Given the description of an element on the screen output the (x, y) to click on. 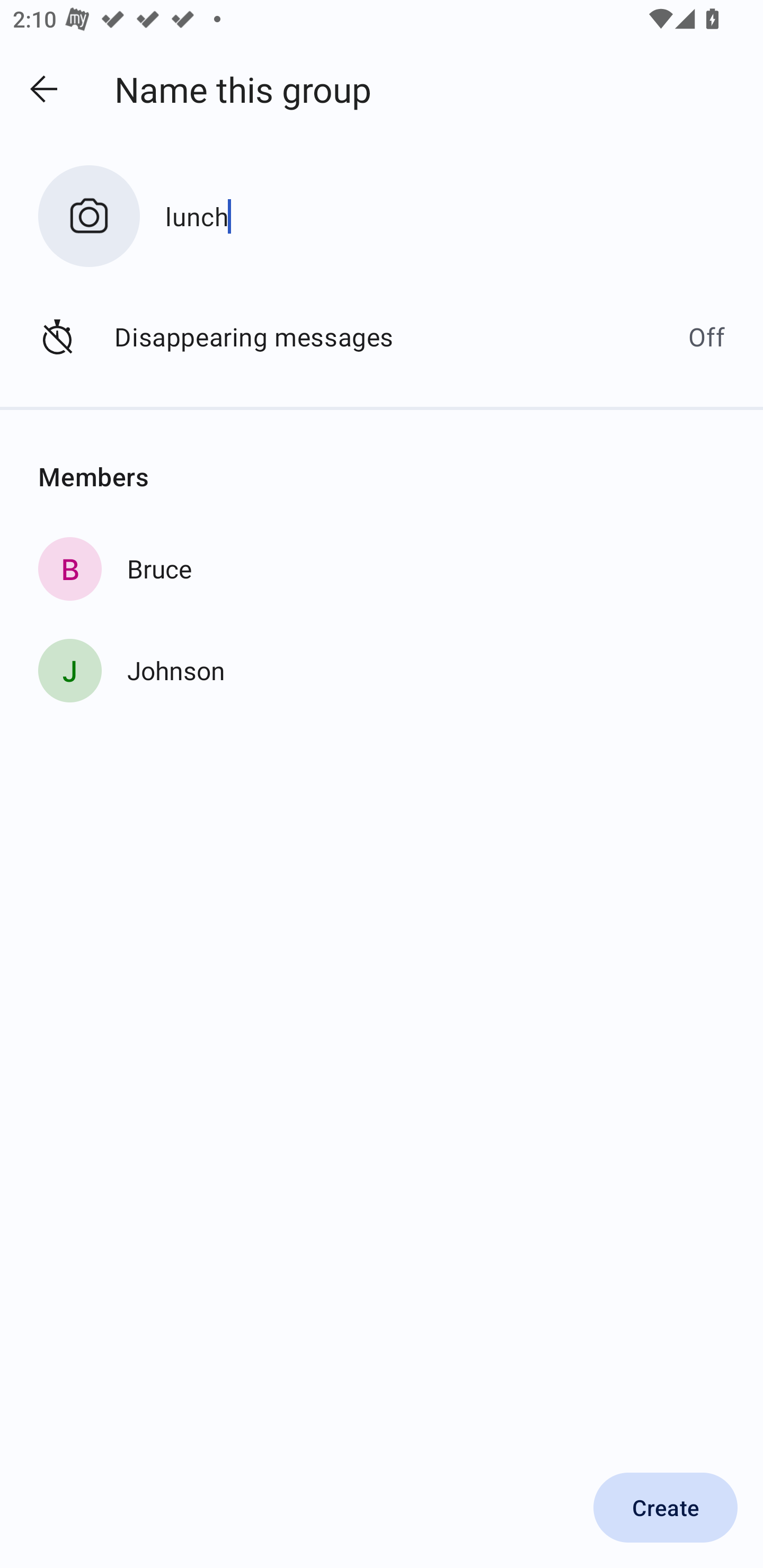
Create (665, 1507)
